Given the description of an element on the screen output the (x, y) to click on. 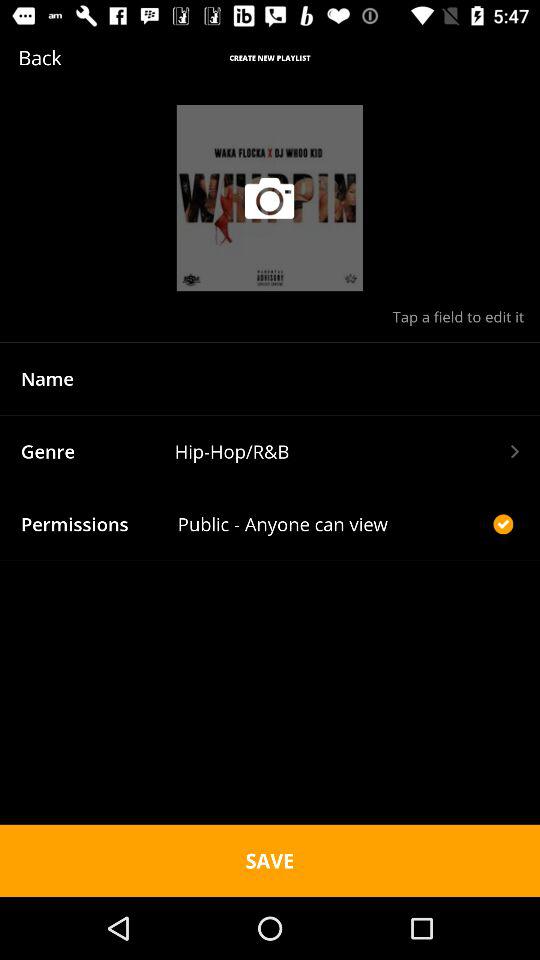
select publicanyone can view which is after permissions (333, 523)
select the text field hiphoprb  which is beside genre (346, 452)
select the text which is to the left of create new playlist (70, 57)
